Given the description of an element on the screen output the (x, y) to click on. 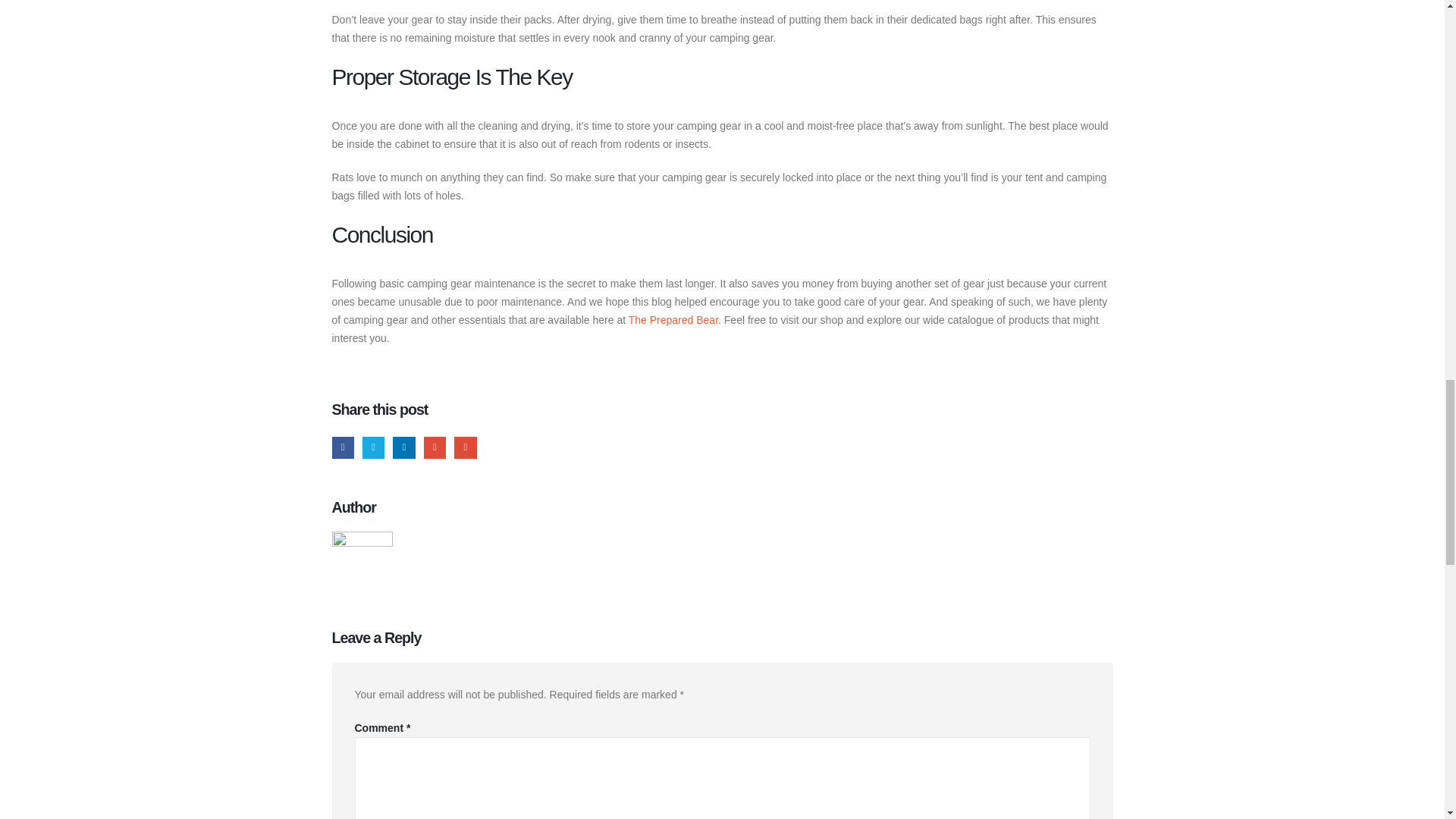
Facebook (342, 447)
LinkedIn (403, 447)
Twitter (373, 447)
Email (465, 447)
